Given the description of an element on the screen output the (x, y) to click on. 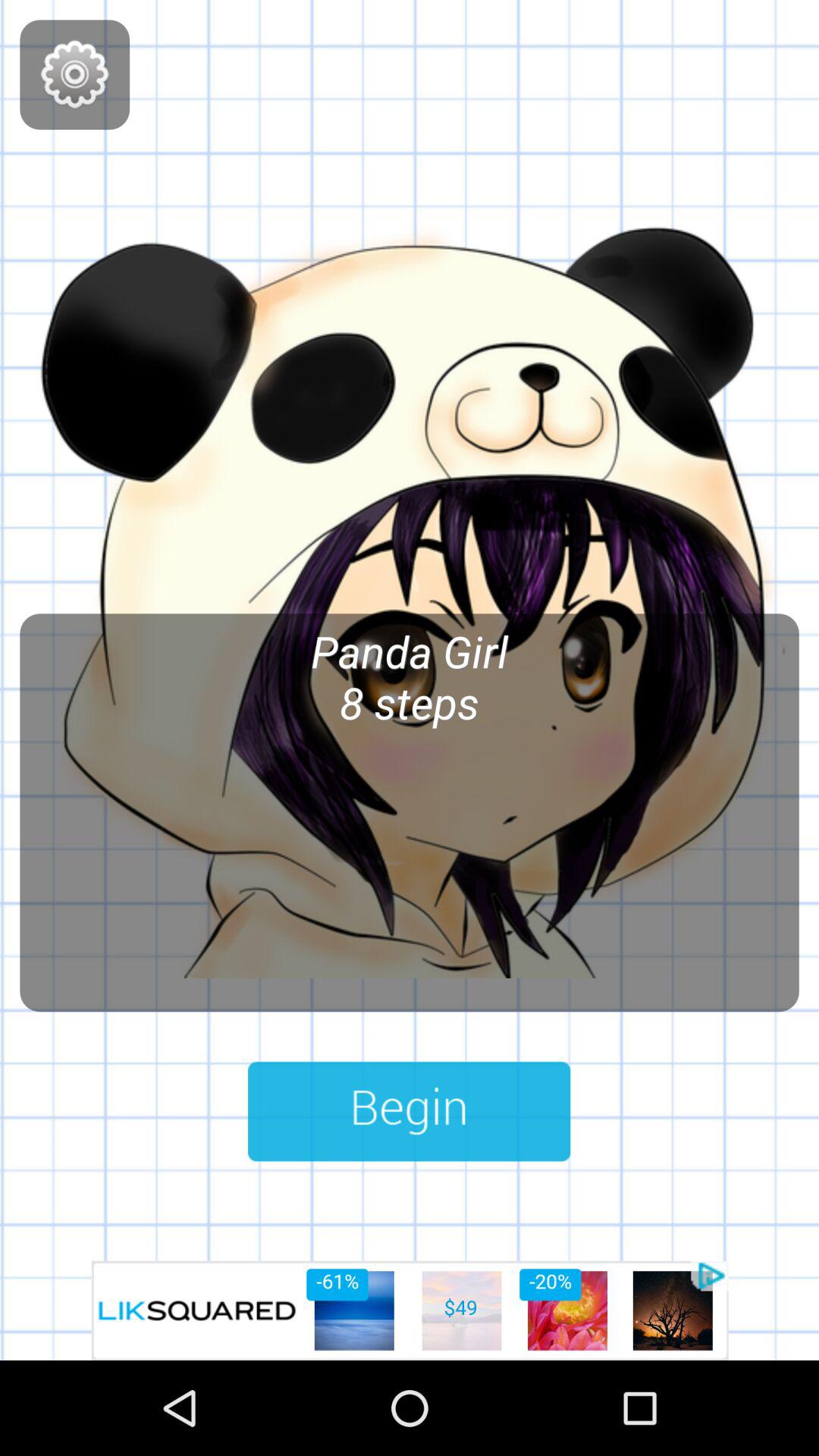
game button (408, 1111)
